Given the description of an element on the screen output the (x, y) to click on. 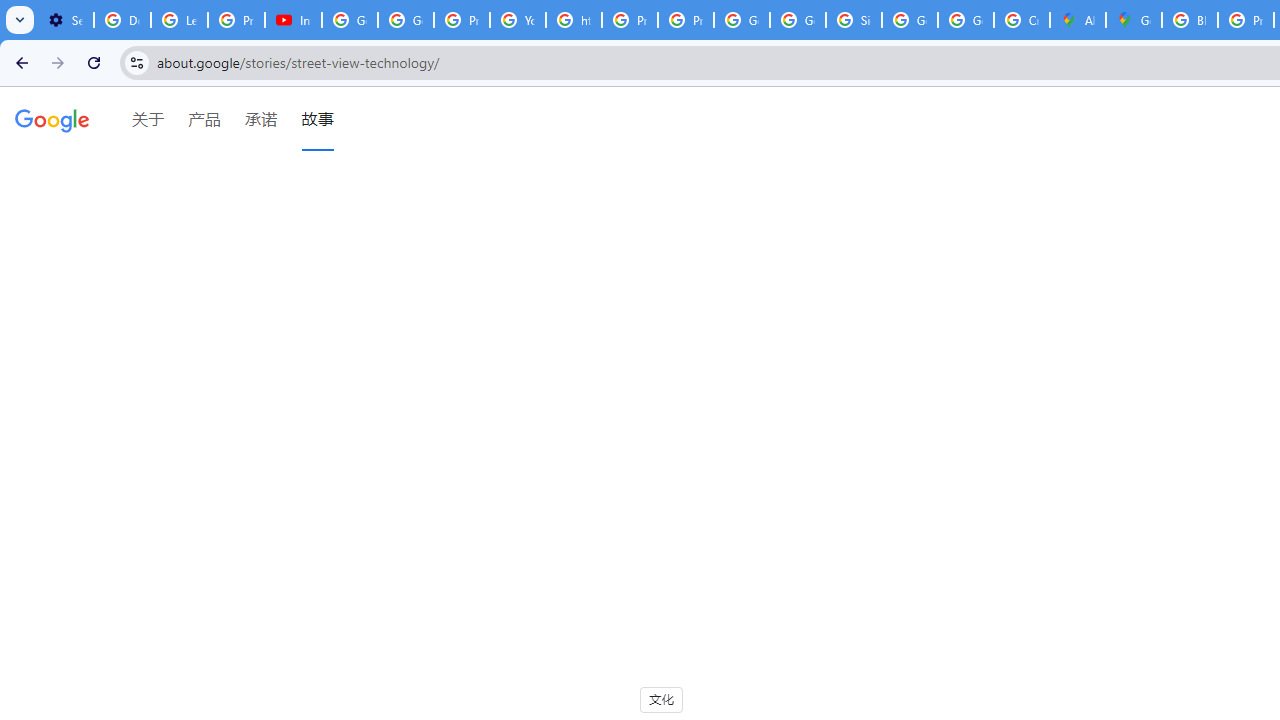
Privacy Help Center - Policies Help (629, 20)
